Given the description of an element on the screen output the (x, y) to click on. 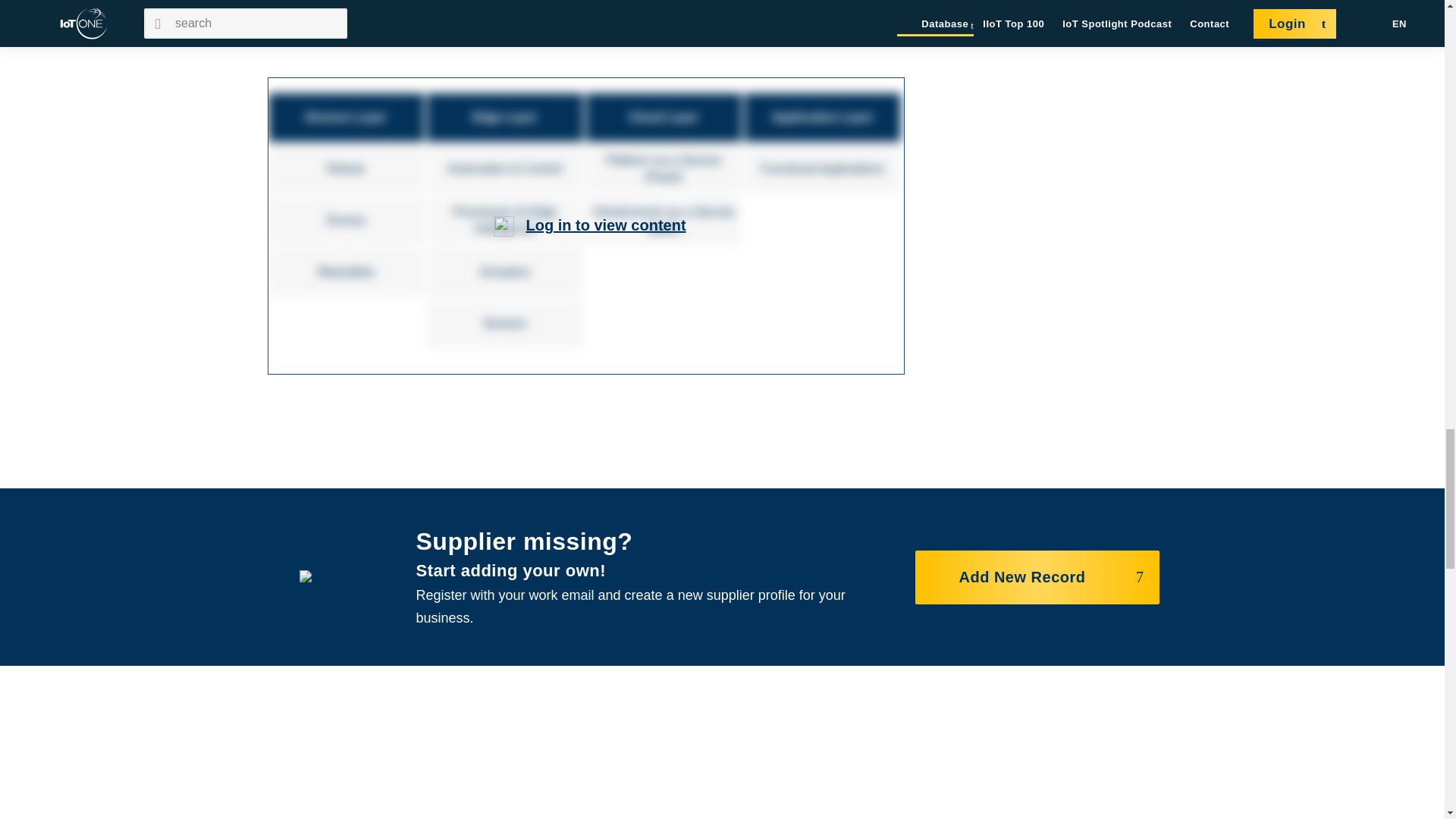
Log in to view content (605, 225)
